Given the description of an element on the screen output the (x, y) to click on. 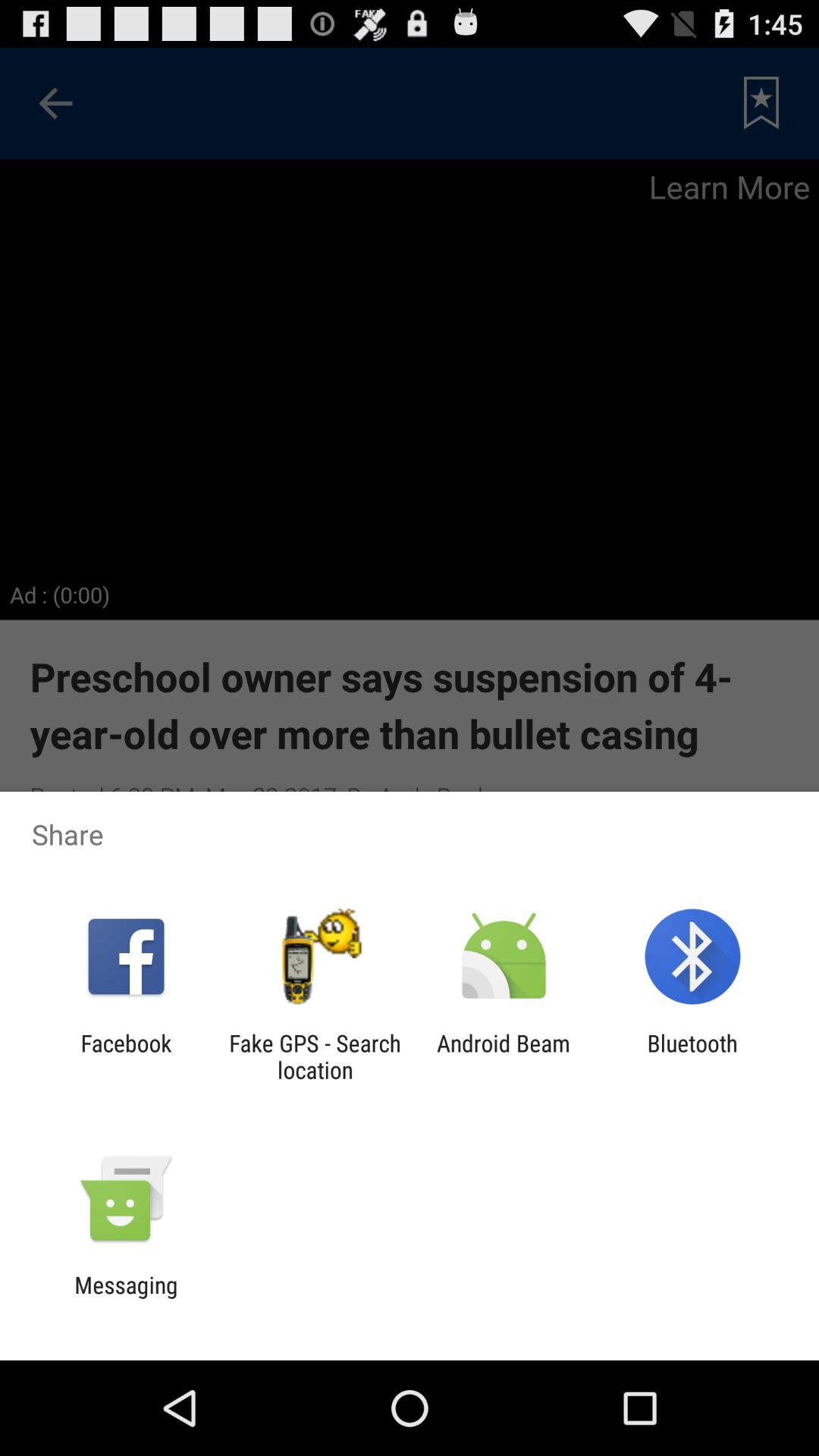
launch item to the right of facebook app (314, 1056)
